Given the description of an element on the screen output the (x, y) to click on. 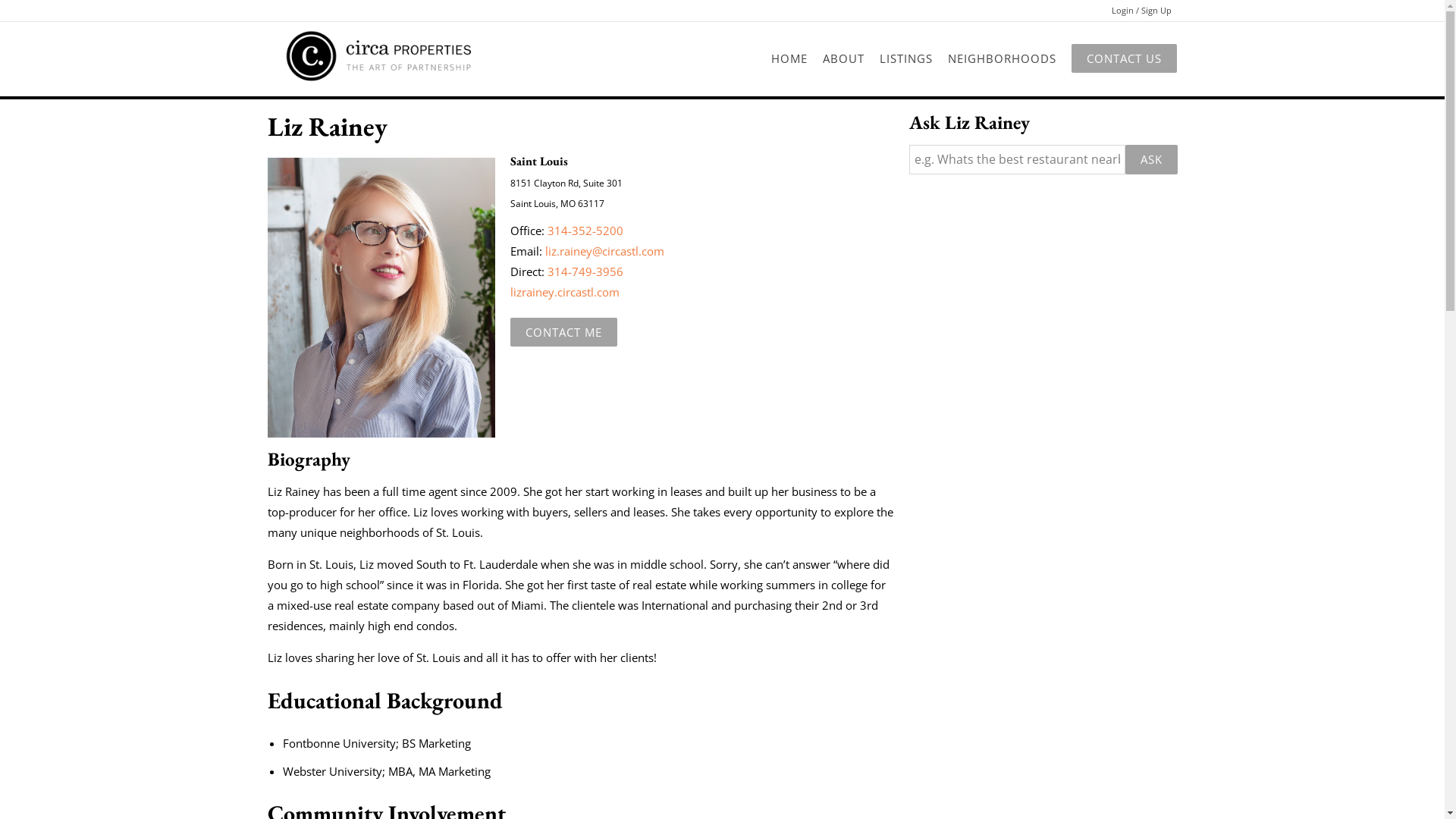
NEIGHBORHOODS (1002, 58)
314-352-5200 (585, 230)
lizrainey.circastl.com (563, 291)
ABOUT (841, 58)
CONTACT ME (562, 331)
LISTINGS (906, 58)
Ask (1151, 159)
HOME (787, 58)
CONTACT US (1123, 58)
314-749-3956 (585, 271)
